Given the description of an element on the screen output the (x, y) to click on. 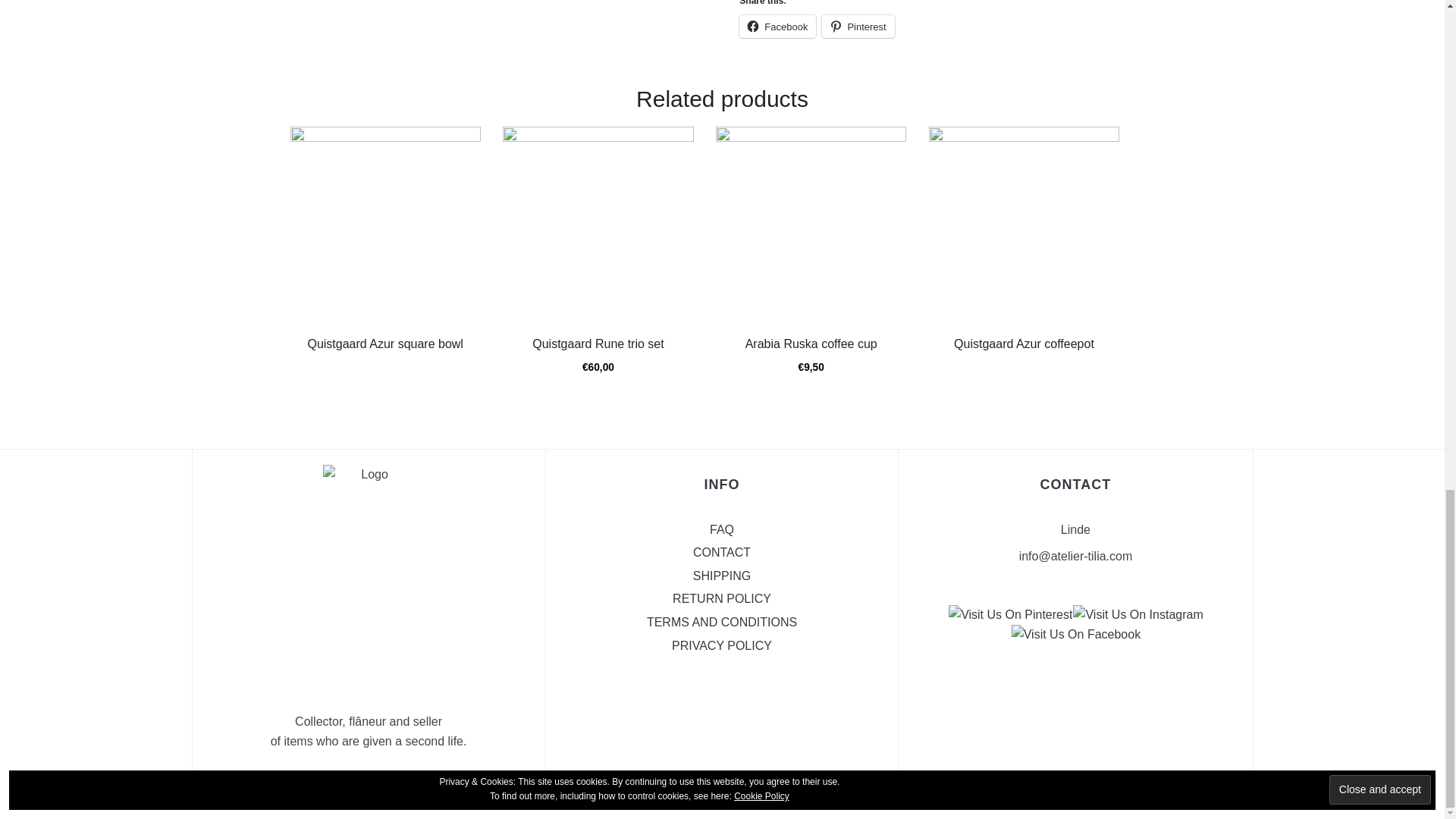
Click to share on Pinterest (857, 26)
Visit Us On Instagram (1136, 613)
Click to share on Facebook (777, 26)
Visit Us On Pinterest (1009, 613)
Visit Us On Facebook (1075, 633)
